Given the description of an element on the screen output the (x, y) to click on. 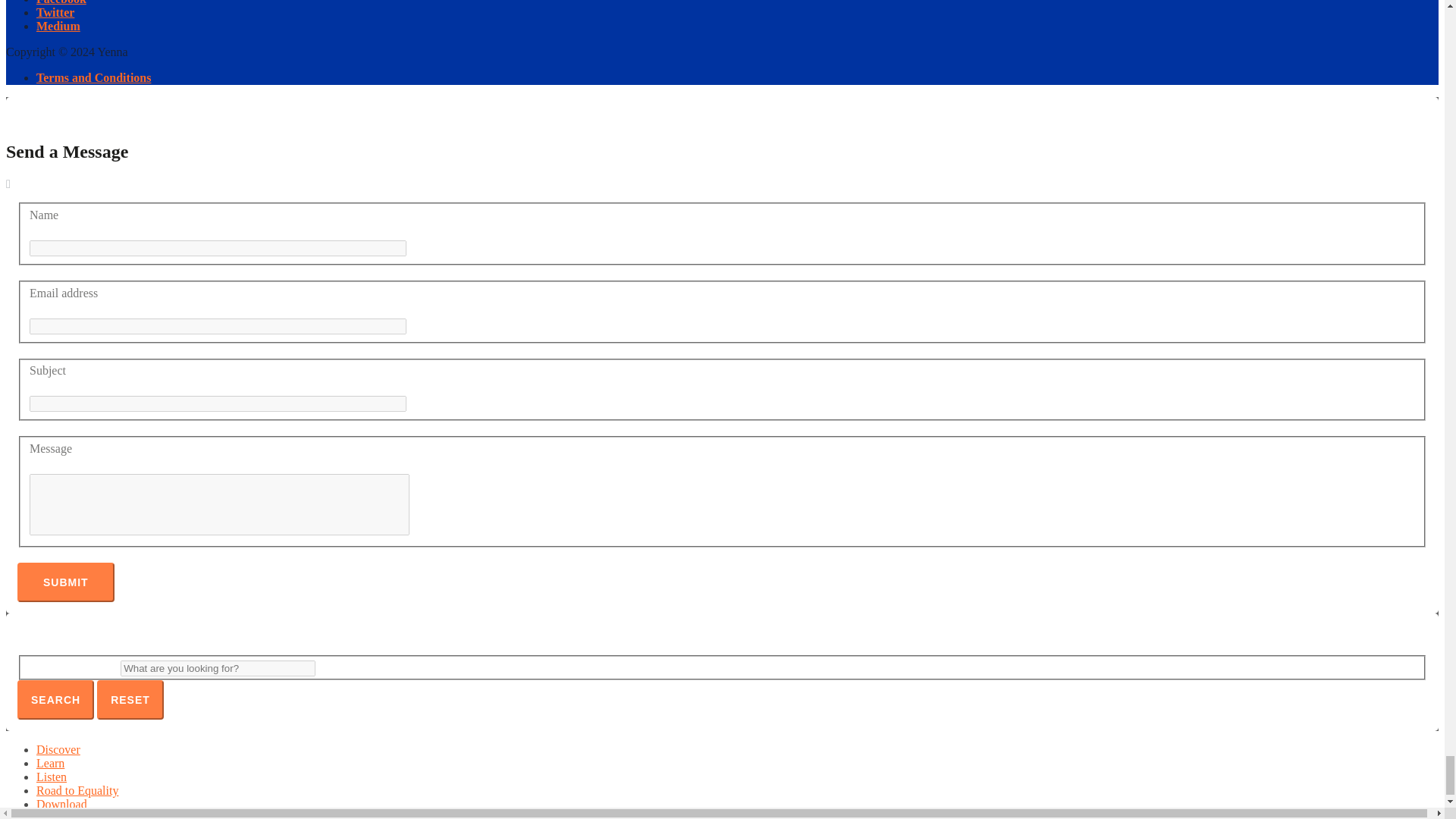
Terms and Conditions (93, 77)
Facebook (60, 2)
Search (55, 699)
Reset (130, 699)
Submit (66, 581)
Twitter (55, 11)
Submit (66, 581)
Medium (58, 25)
